Given the description of an element on the screen output the (x, y) to click on. 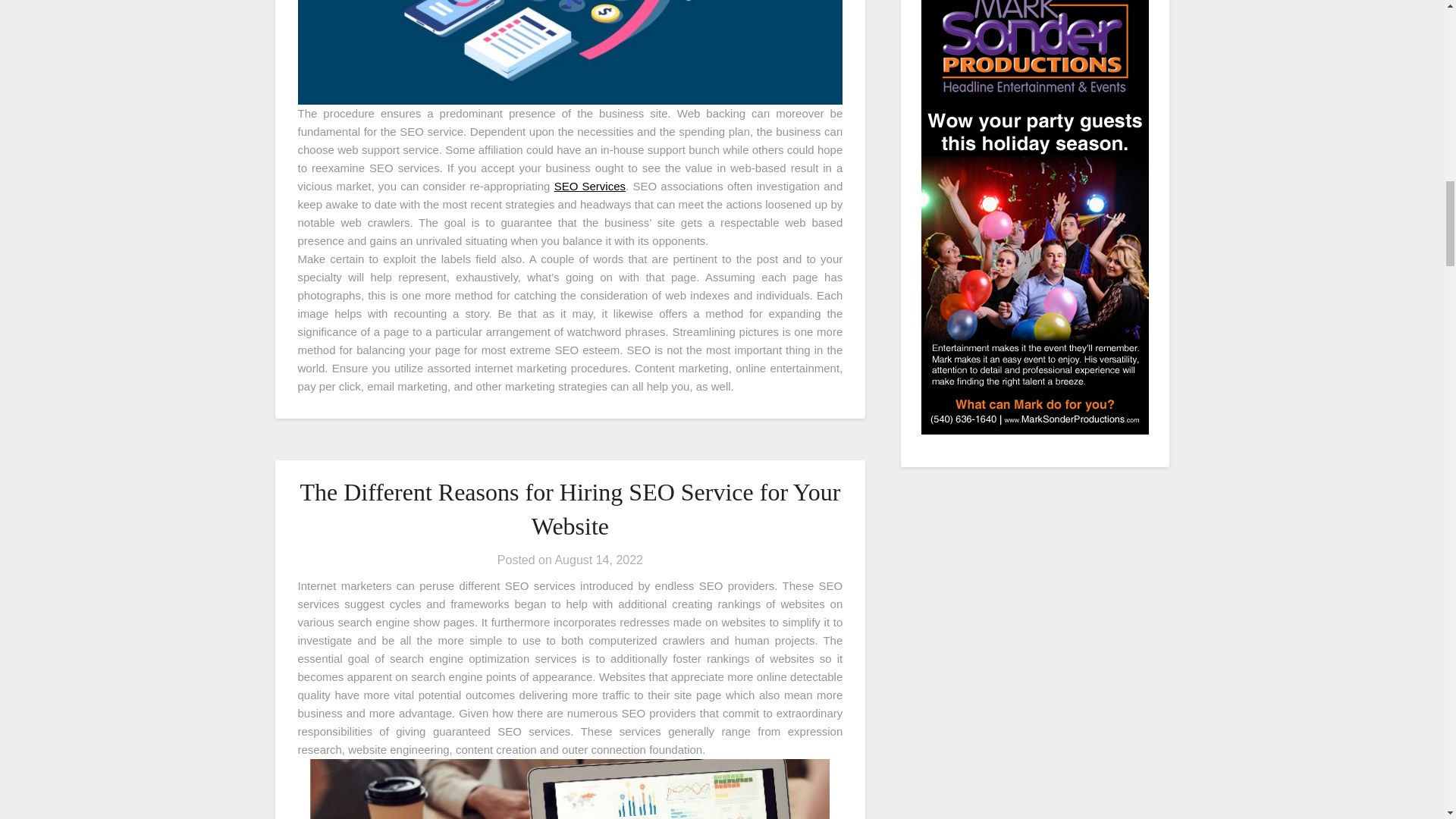
SEO Services (590, 185)
August 14, 2022 (598, 559)
